Given the description of an element on the screen output the (x, y) to click on. 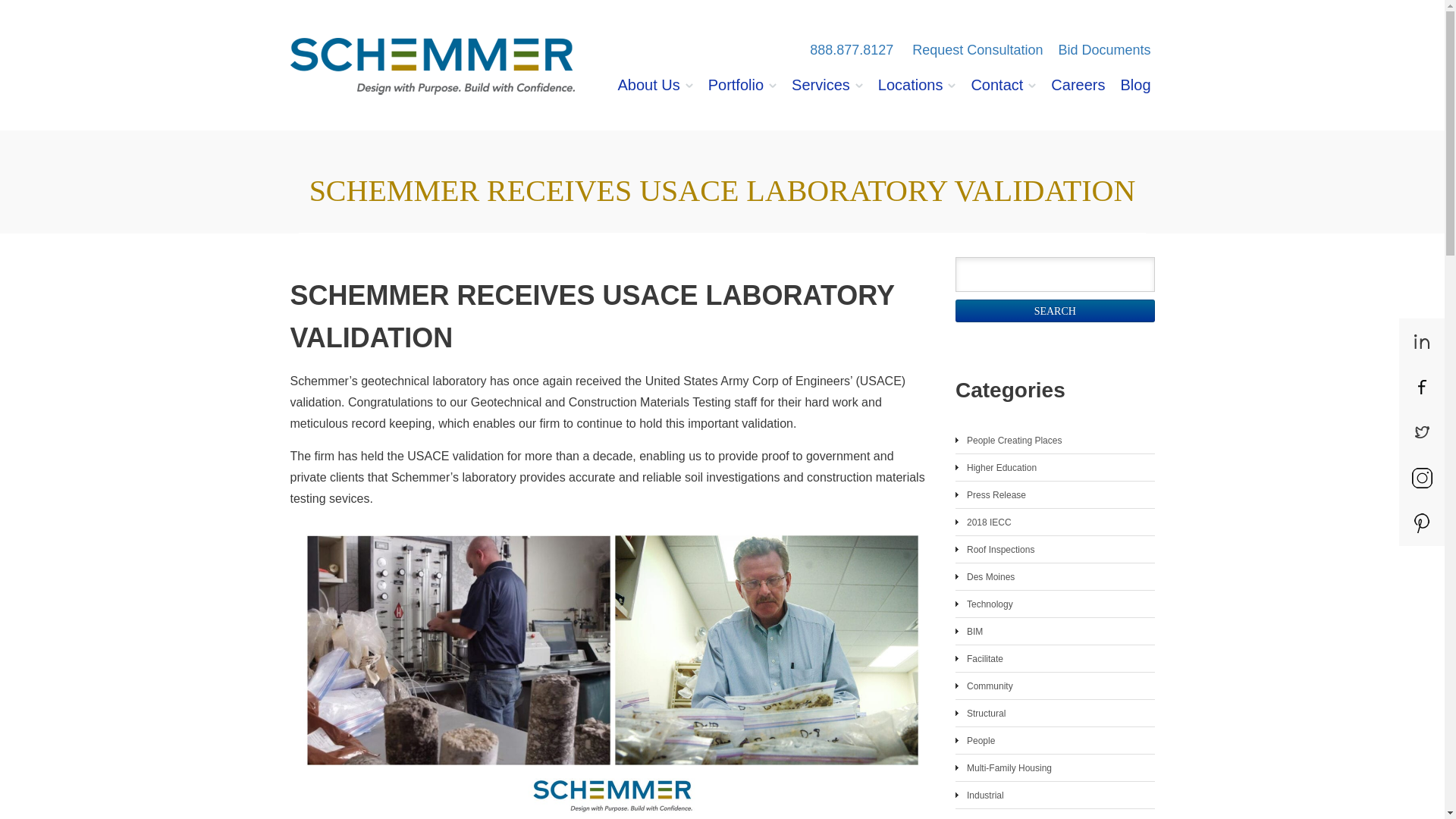
search (1054, 310)
search (1054, 310)
888.877.8127 (851, 49)
Request Consultation (977, 49)
Portfolio (742, 96)
About Us (653, 96)
Bid Documents (1104, 49)
